Given the description of an element on the screen output the (x, y) to click on. 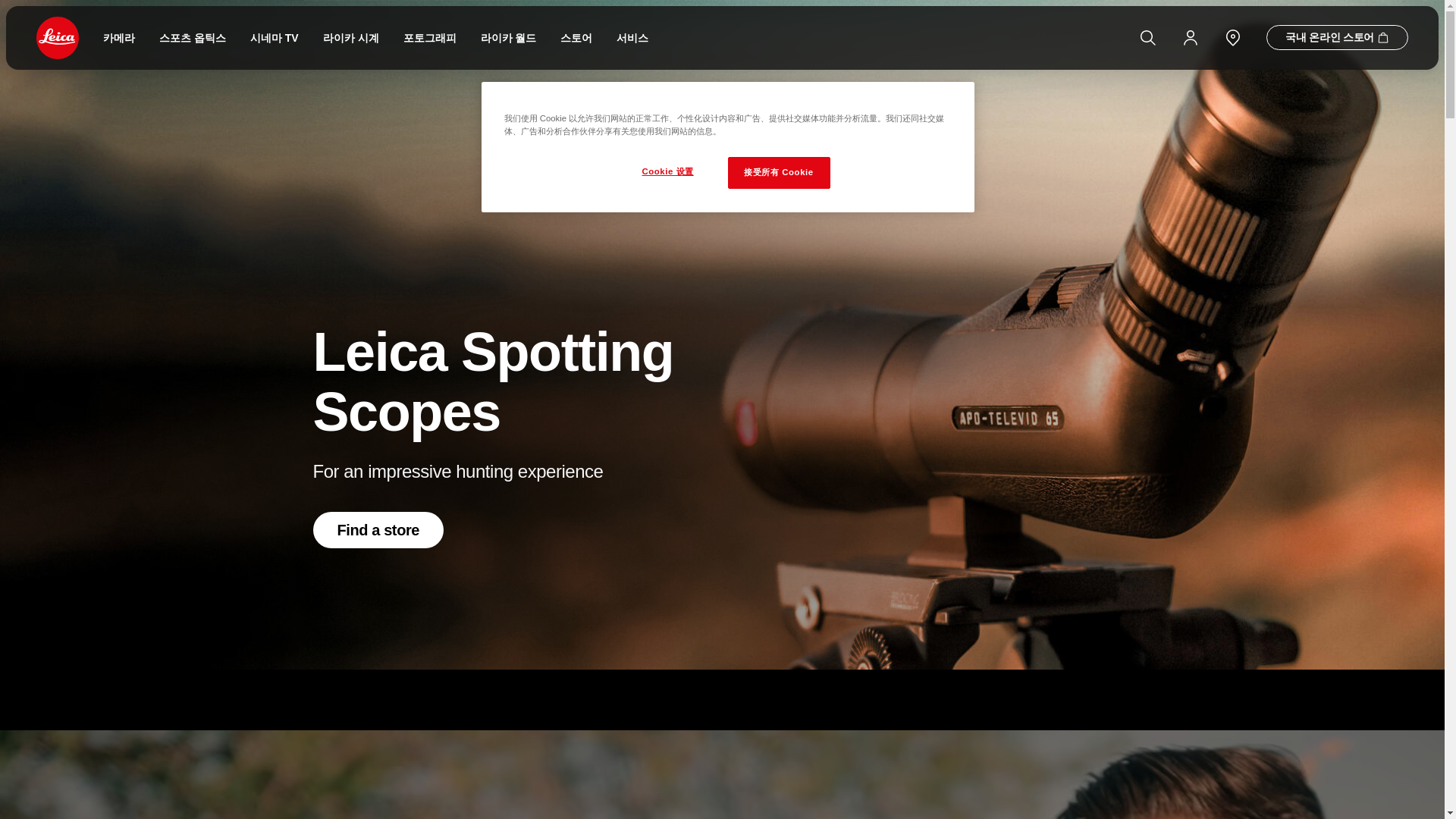
Open menu (8, 5)
